Given the description of an element on the screen output the (x, y) to click on. 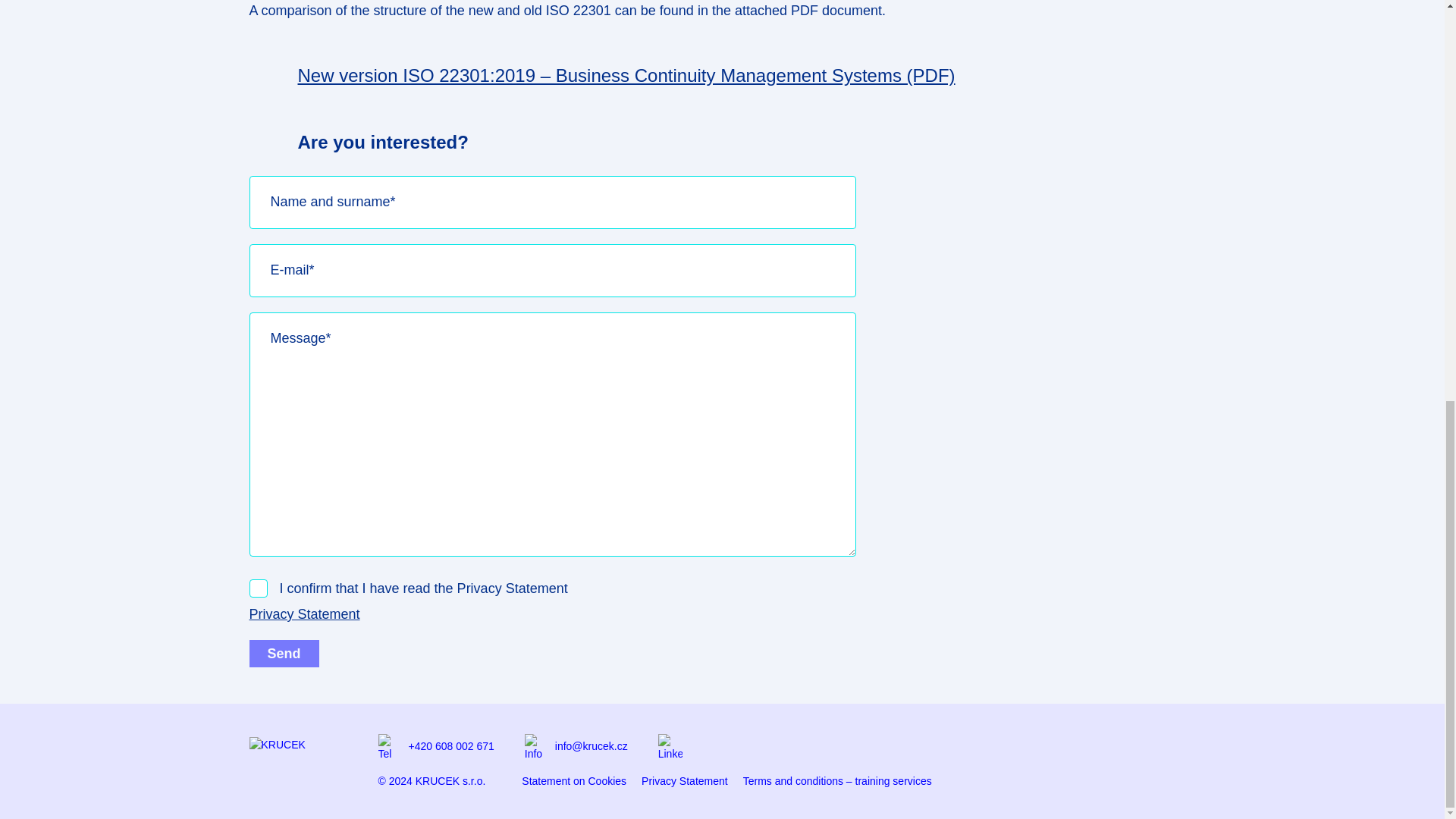
Send (283, 653)
Send (283, 653)
Privacy Statement (303, 613)
Privacy Statement (685, 780)
1 (257, 588)
Statement on Cookies (573, 780)
